Given the description of an element on the screen output the (x, y) to click on. 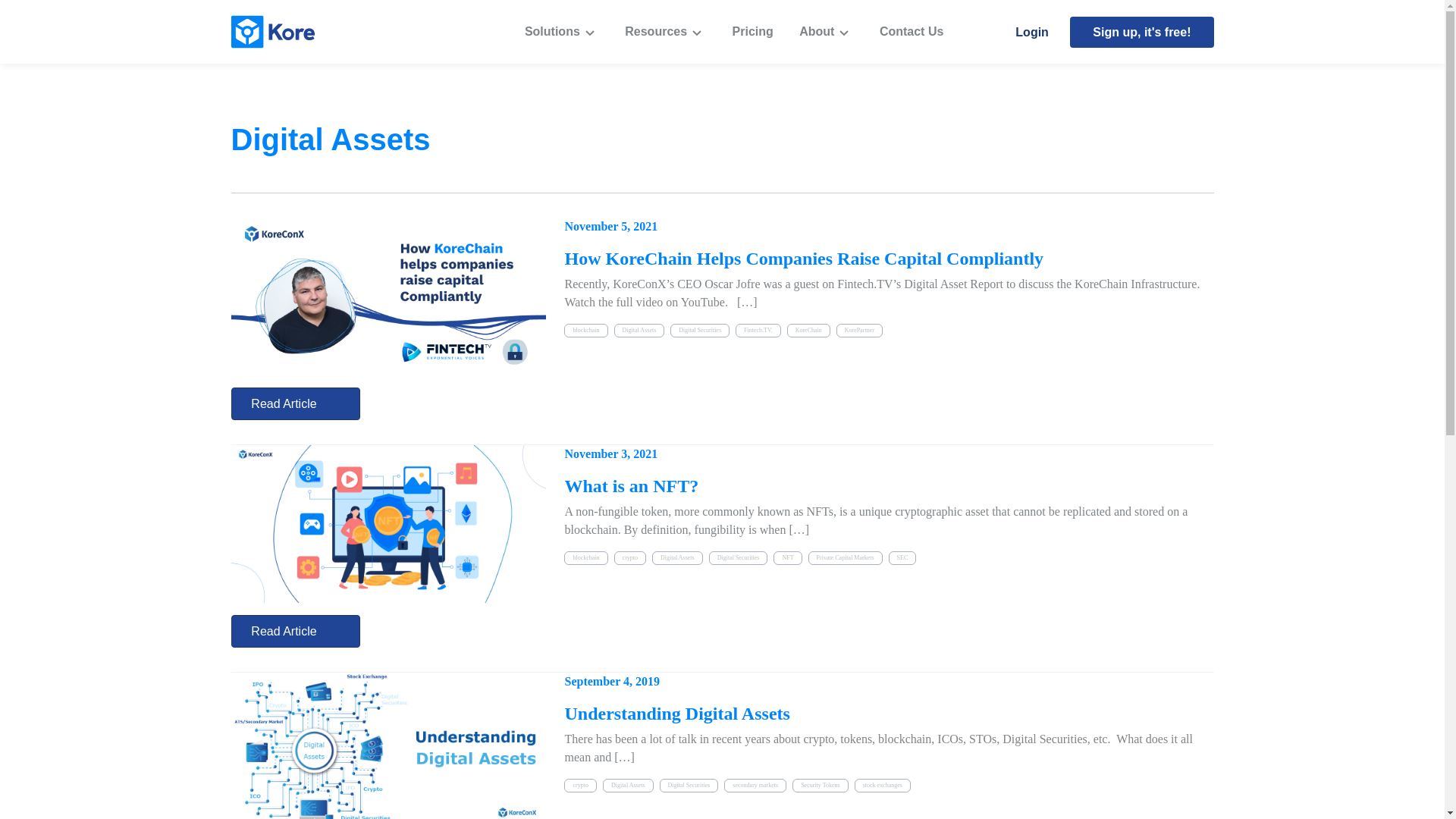
About (826, 31)
Pricing (752, 31)
Resources (665, 31)
Login (1031, 31)
Solutions (561, 31)
Contact Us (911, 31)
Sign up, it's free! (1141, 31)
